Given the description of an element on the screen output the (x, y) to click on. 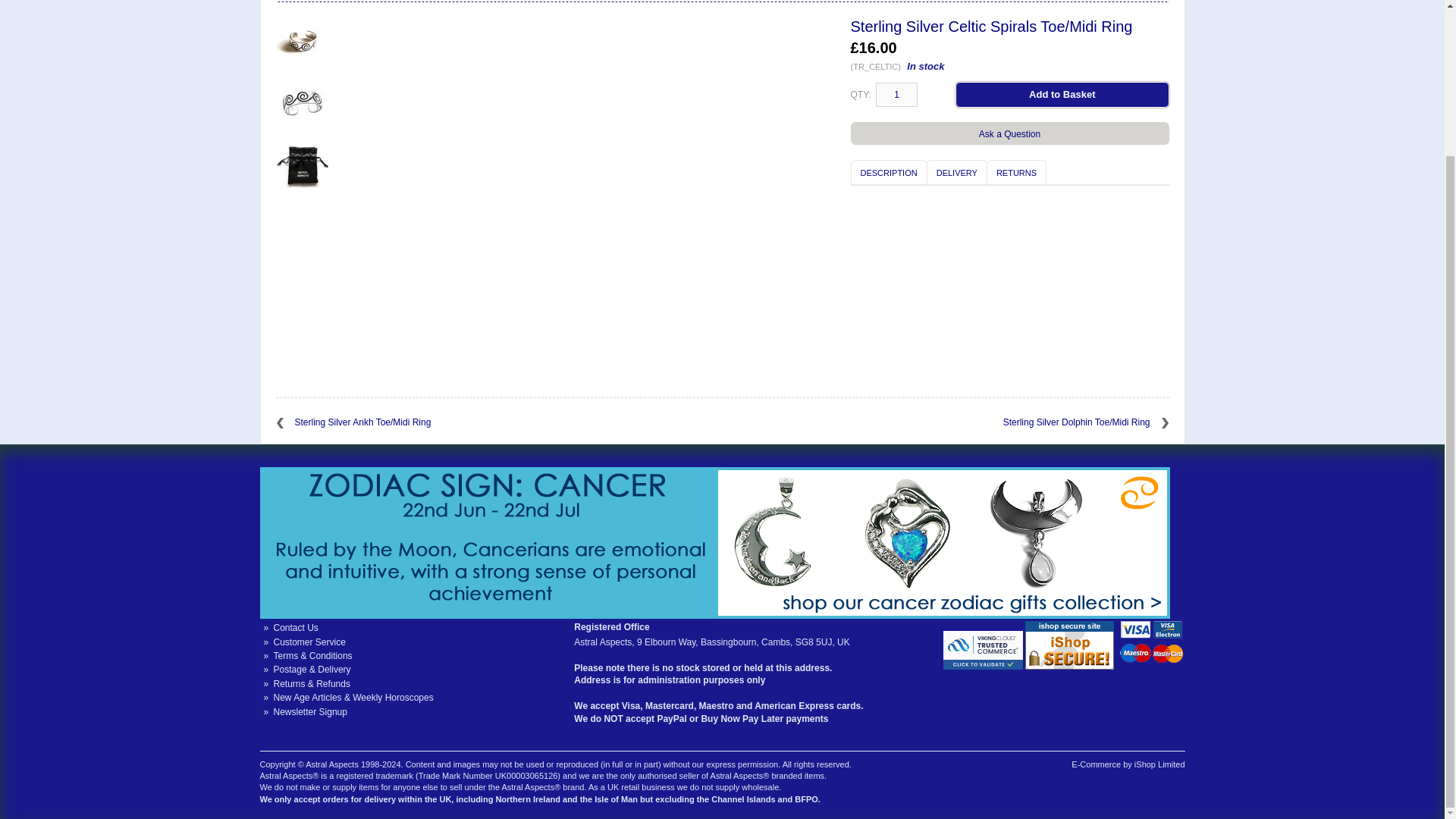
DELIVERY (956, 172)
1 (896, 94)
Add to Basket (1062, 94)
Add to Basket (1062, 94)
RETURNS (1016, 172)
DESCRIPTION (888, 172)
